Given the description of an element on the screen output the (x, y) to click on. 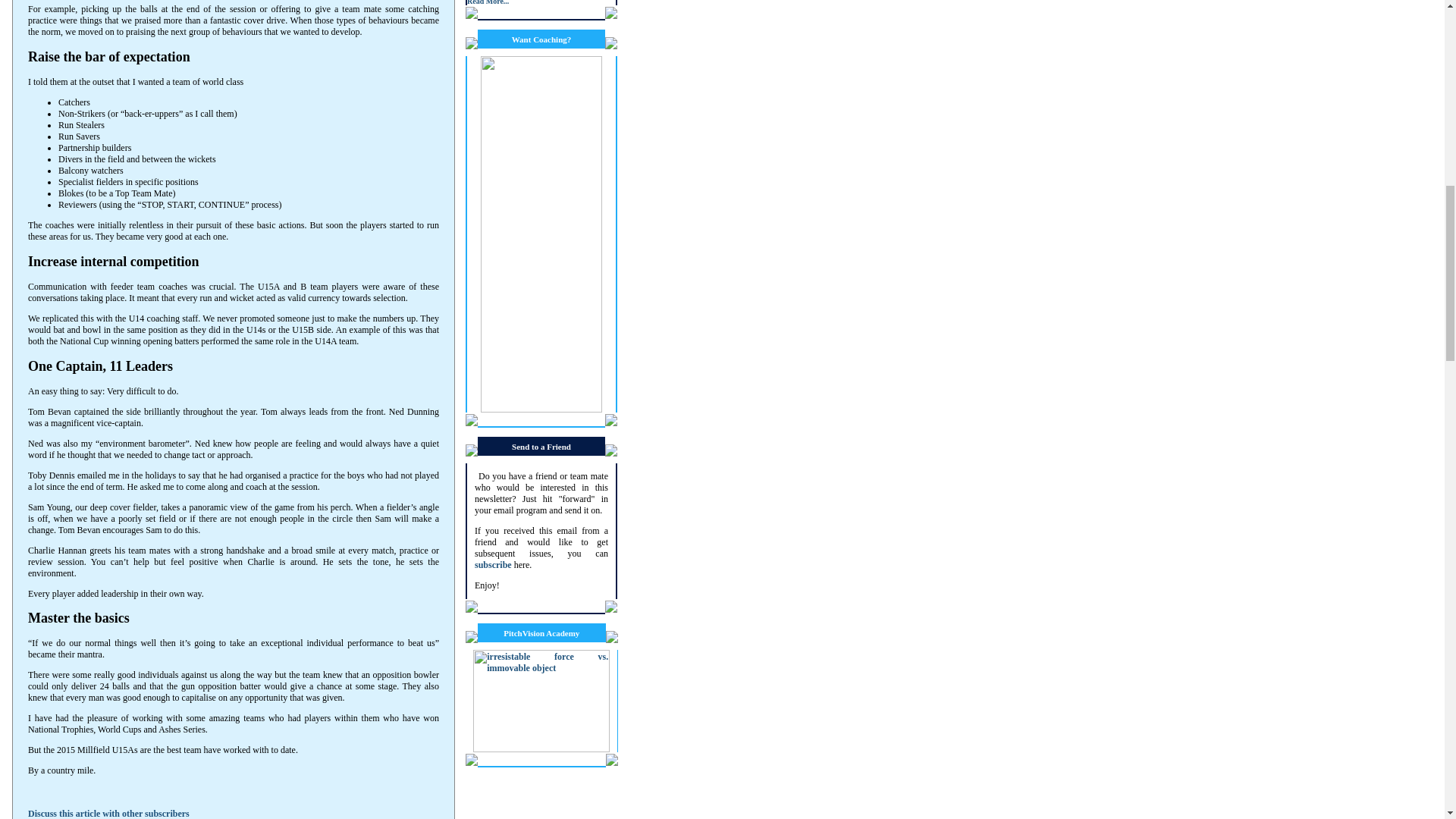
Read More... (487, 2)
subscribe (493, 564)
Discuss this article with other subscribers (108, 813)
